Given the description of an element on the screen output the (x, y) to click on. 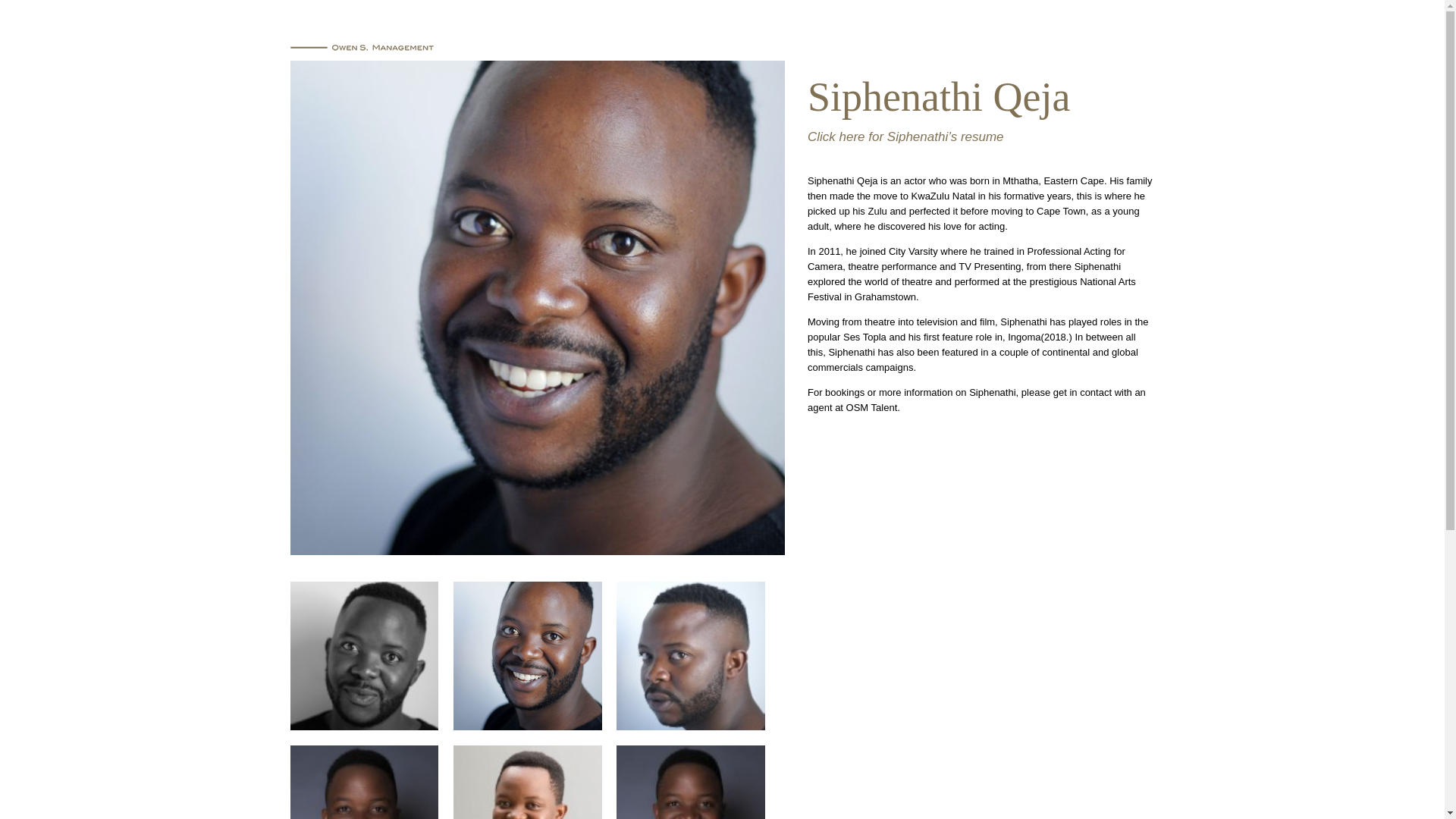
CONTACT US (1113, 33)
Home (624, 33)
Voice Over Artists (979, 33)
Actors (862, 33)
MEDIA PERSONALITIES (739, 33)
VOICE OVER ARTISTS (979, 33)
Media Personalities (739, 33)
Contact Us (1113, 33)
HOME (624, 33)
ACTORS (862, 33)
